Given the description of an element on the screen output the (x, y) to click on. 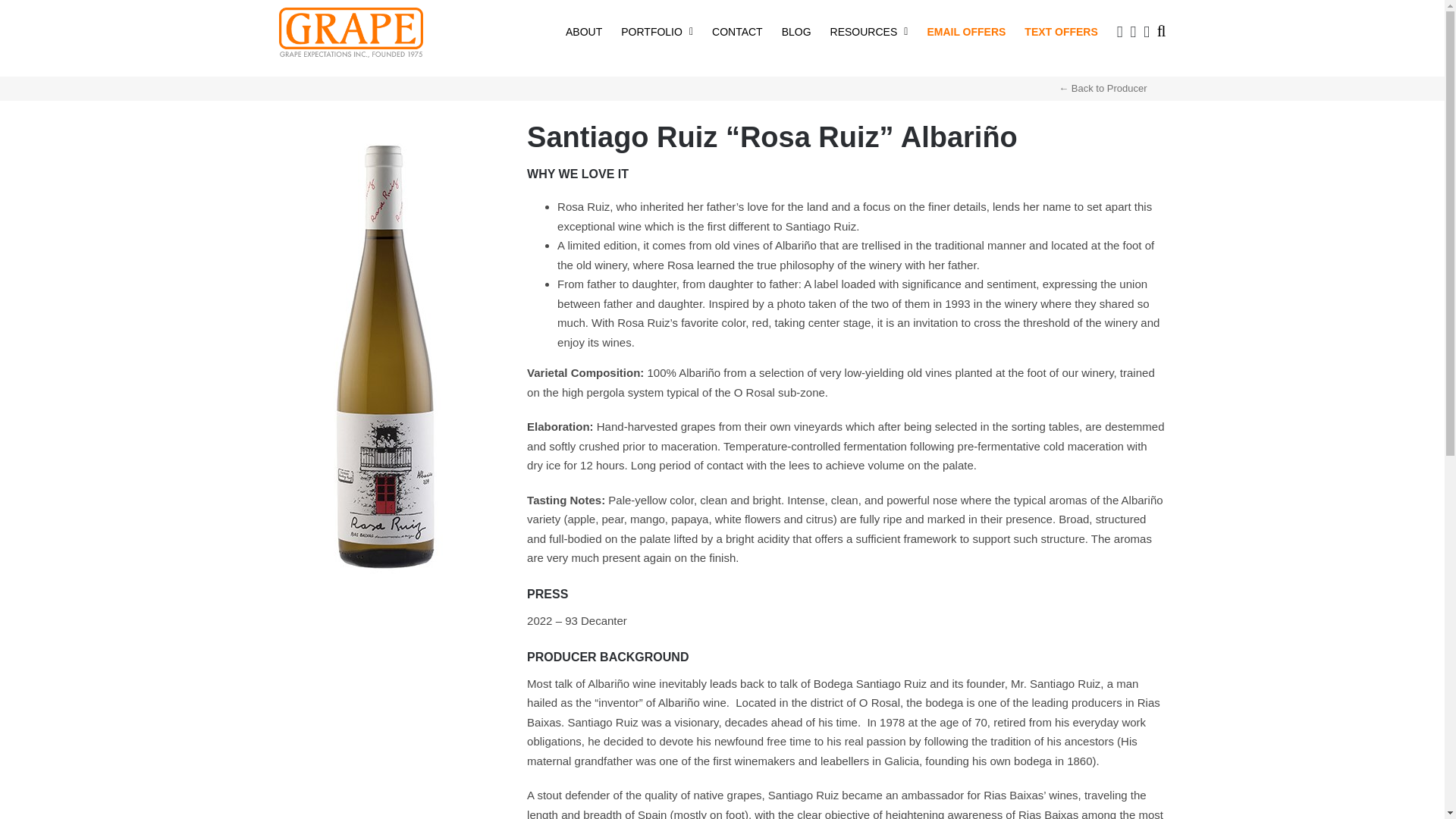
TEXT OFFERS (1061, 30)
PORTFOLIO (657, 30)
EMAIL OFFERS (966, 30)
RESOURCES (868, 30)
